Given the description of an element on the screen output the (x, y) to click on. 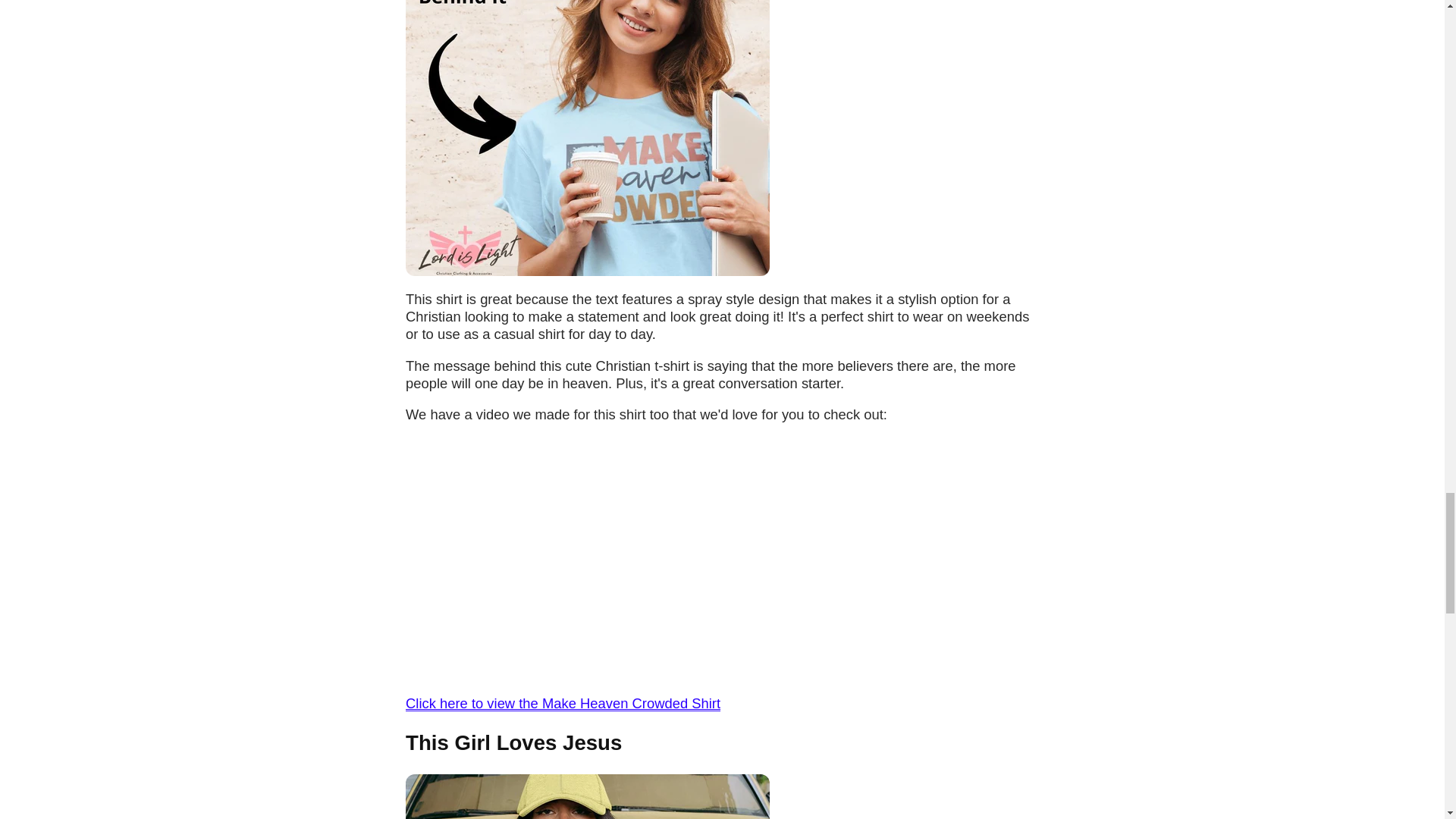
YouTube video player (617, 556)
Click here to view the Make Heaven Crowded Shirt (563, 703)
Make Heaven Crowded T-Shirt (563, 703)
